Given the description of an element on the screen output the (x, y) to click on. 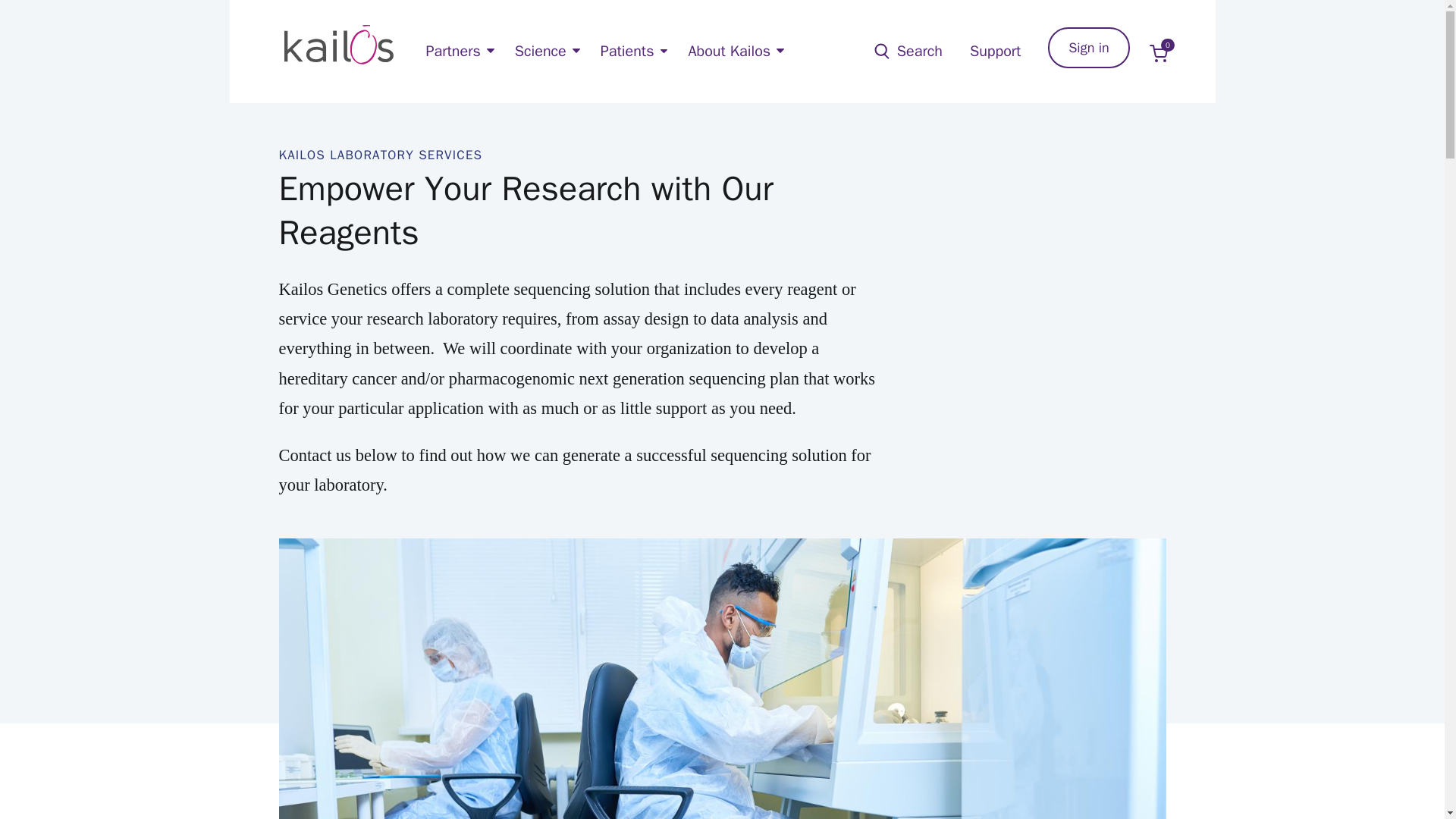
Group 31 (1162, 51)
Sign in (1162, 51)
Support (1088, 47)
Search (995, 50)
